Given the description of an element on the screen output the (x, y) to click on. 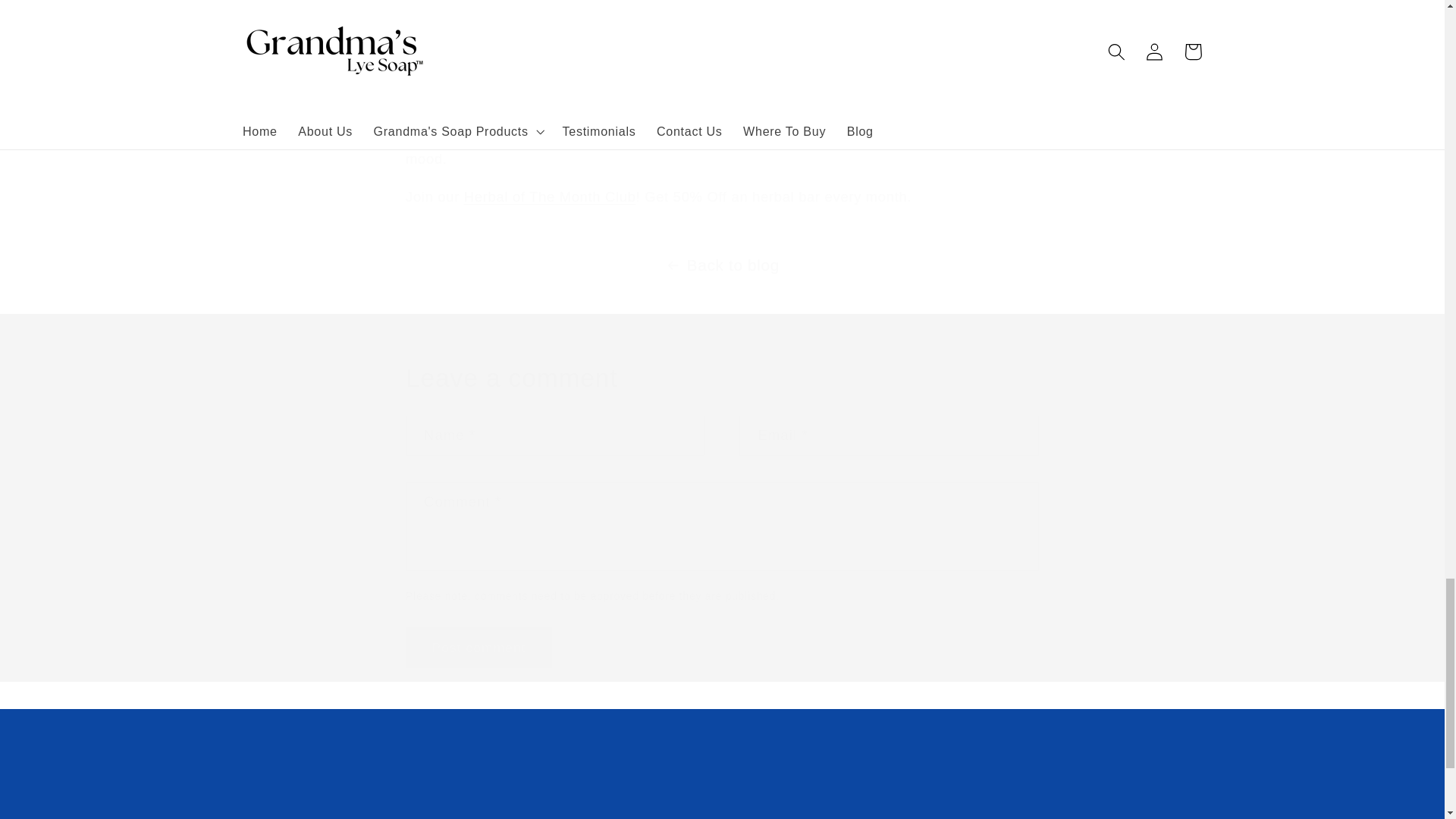
GRANDMA'S NATURAL BEAUTY GIFT SET (722, 767)
Search About Products Terms of Service Refund policy (799, 59)
Post comment (722, 785)
HERBAL OF THE MONTH (478, 647)
